Given the description of an element on the screen output the (x, y) to click on. 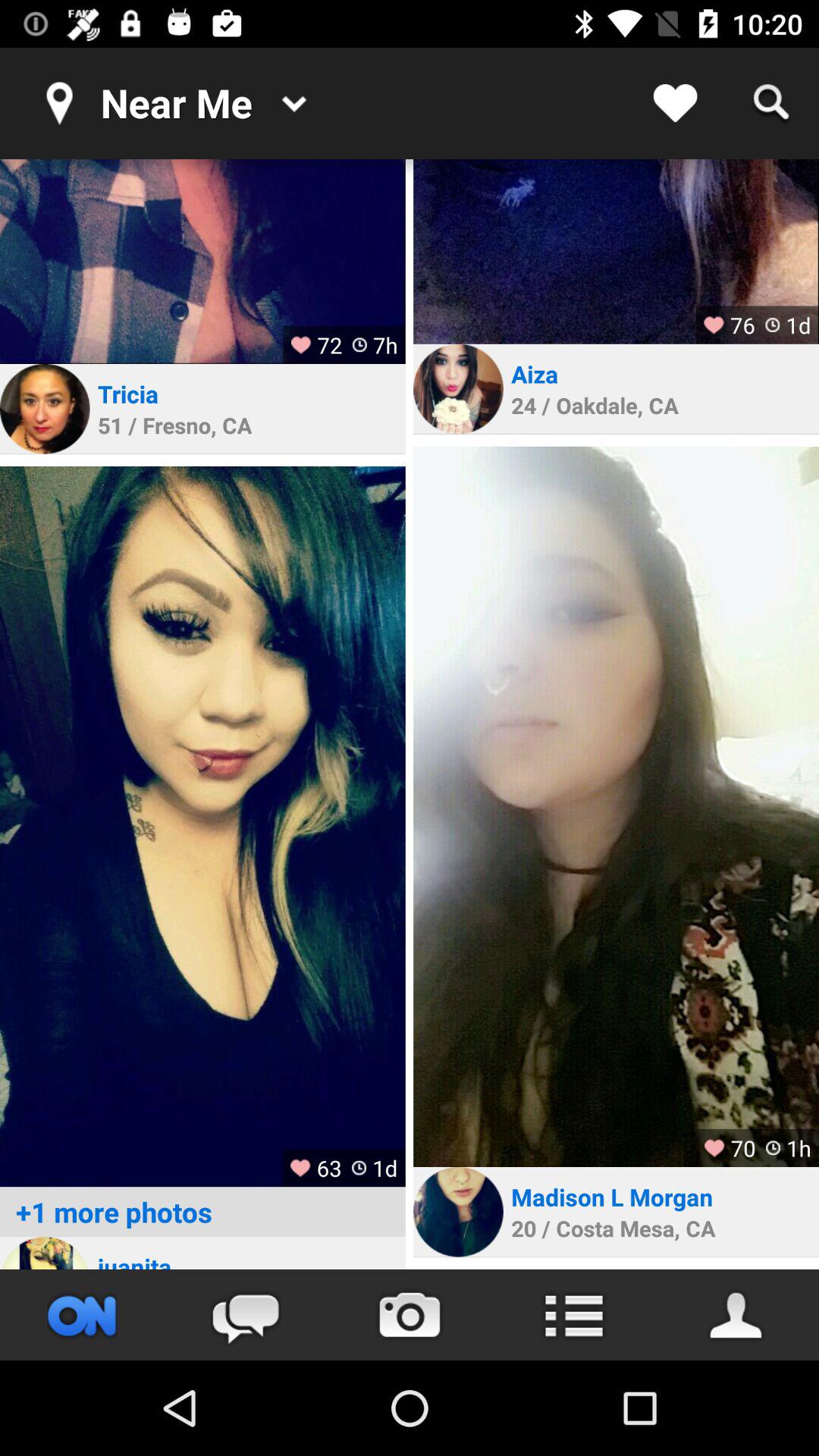
profile (44, 1253)
